Given the description of an element on the screen output the (x, y) to click on. 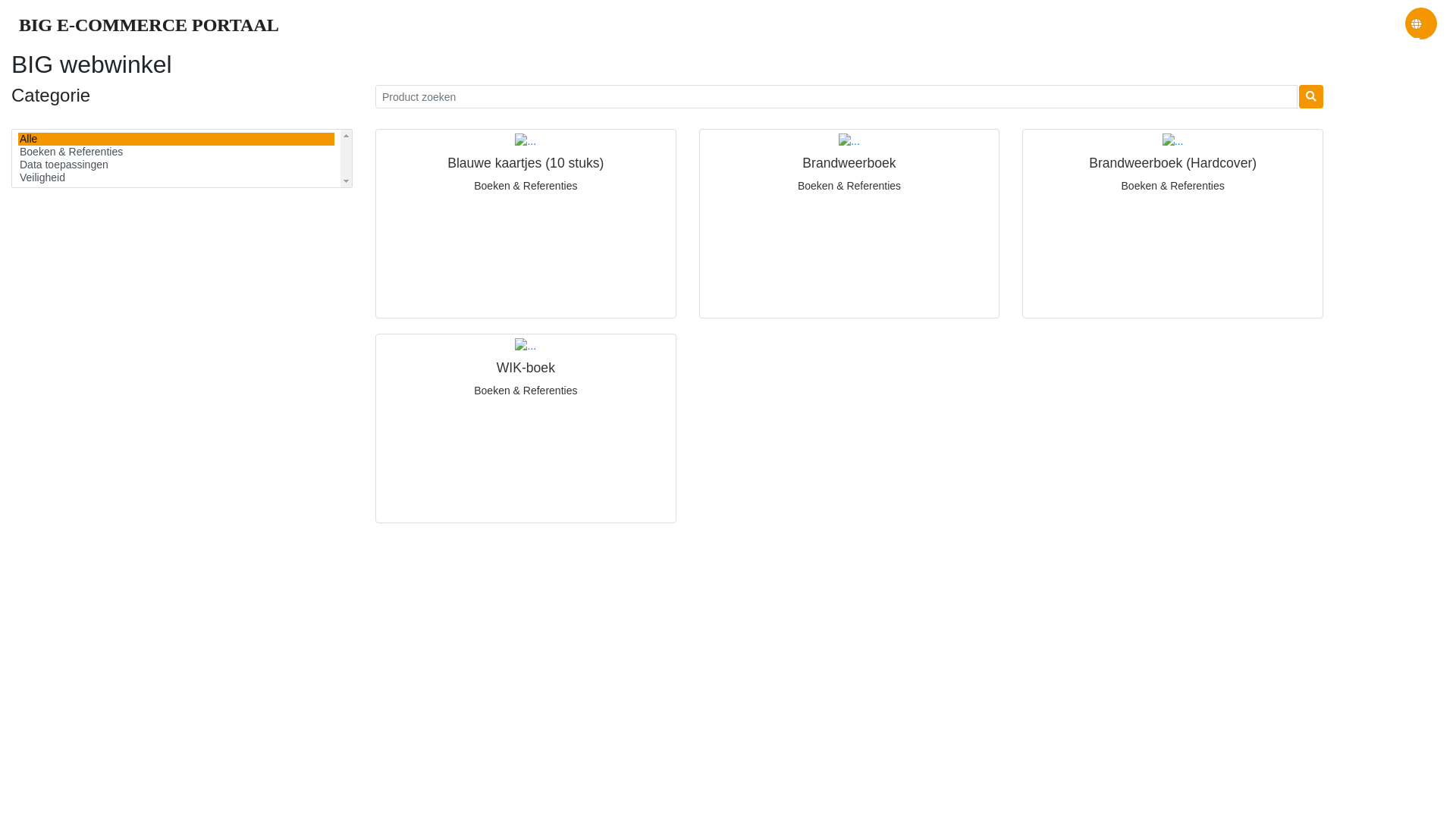
WIK-boek
Boeken & Referenties Element type: text (525, 428)
BIG E-COMMERCE PORTAAL Element type: text (148, 24)
Zoeken Element type: hover (1311, 96)
Brandweerboek
Boeken & Referenties Element type: text (849, 223)
Brandweerboek (Hardcover)
Boeken & Referenties Element type: text (1172, 223)
Blauwe kaartjes (10 stuks)
Boeken & Referenties Element type: text (525, 223)
